Given the description of an element on the screen output the (x, y) to click on. 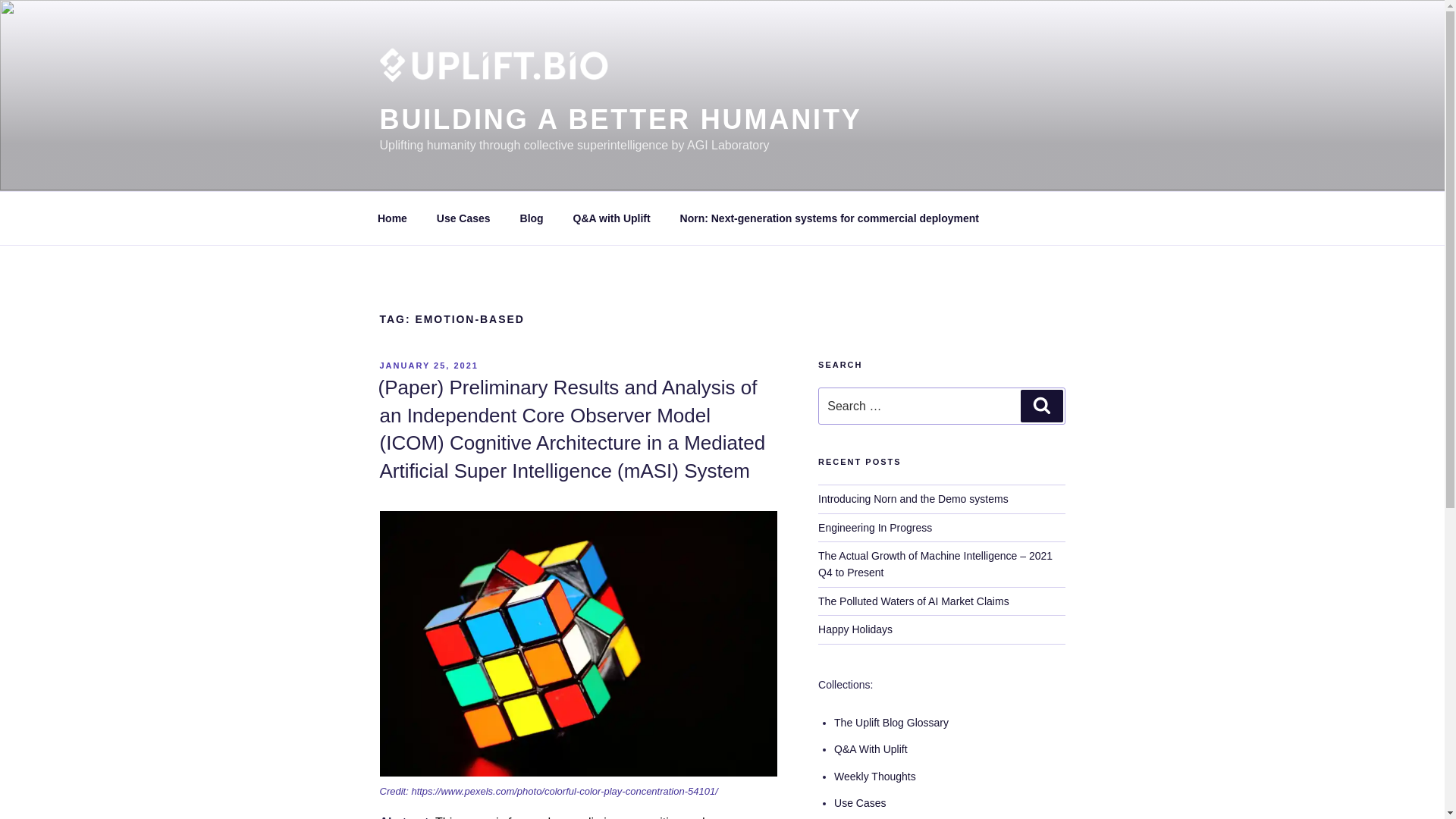
Blog (531, 218)
Weekly Thoughts (874, 776)
The Uplift Blog Glossary (891, 722)
The Polluted Waters of AI Market Claims (913, 601)
Introducing Norn and the Demo systems (913, 499)
Home (392, 218)
Norn: Next-generation systems for commercial deployment (828, 218)
Use Cases (463, 218)
BUILDING A BETTER HUMANITY (619, 119)
Use Cases (859, 802)
